Given the description of an element on the screen output the (x, y) to click on. 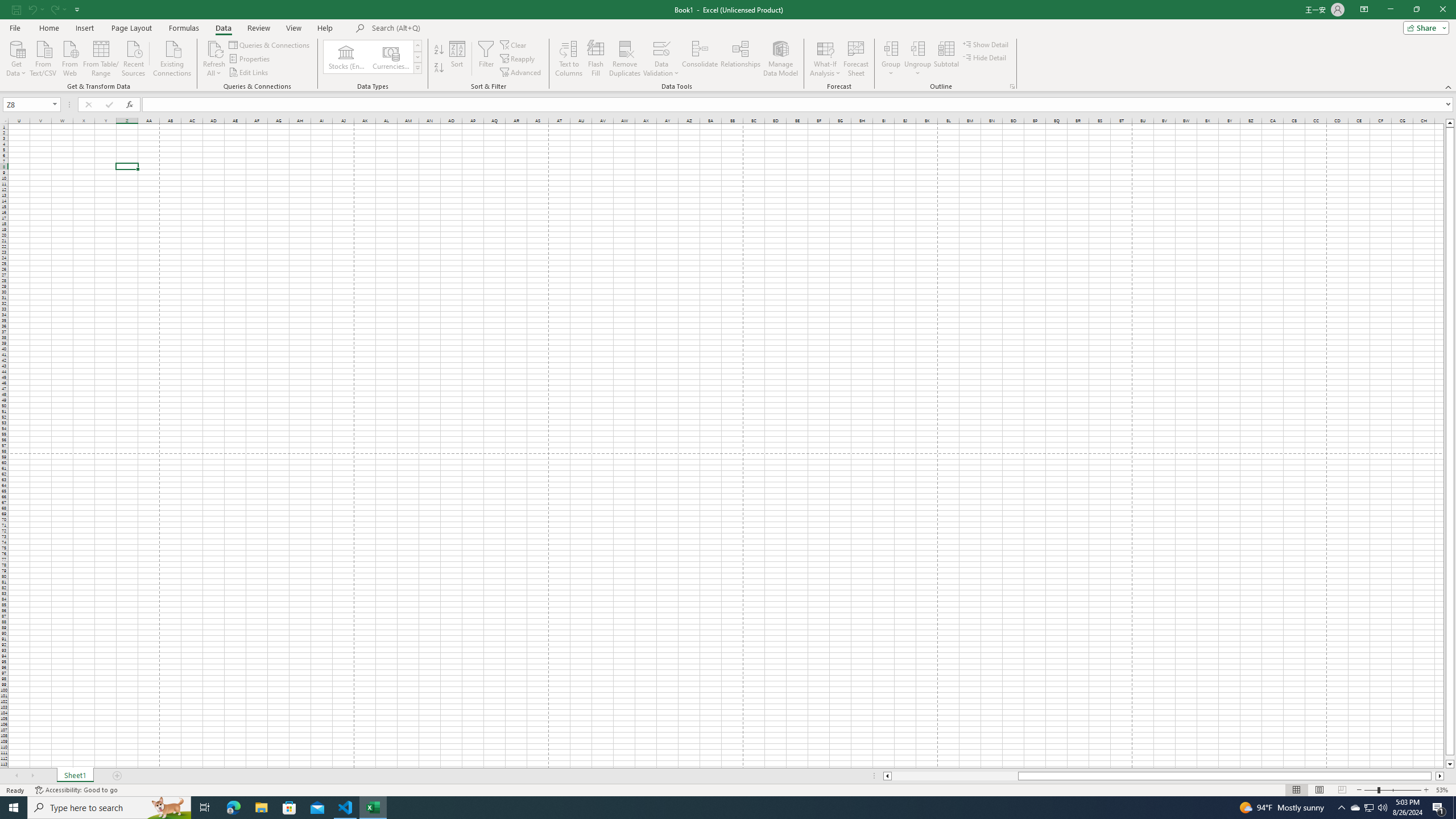
Existing Connections (171, 57)
Formula Bar (798, 104)
Text to Columns... (568, 58)
Data Types (417, 67)
Advanced... (520, 72)
